Given the description of an element on the screen output the (x, y) to click on. 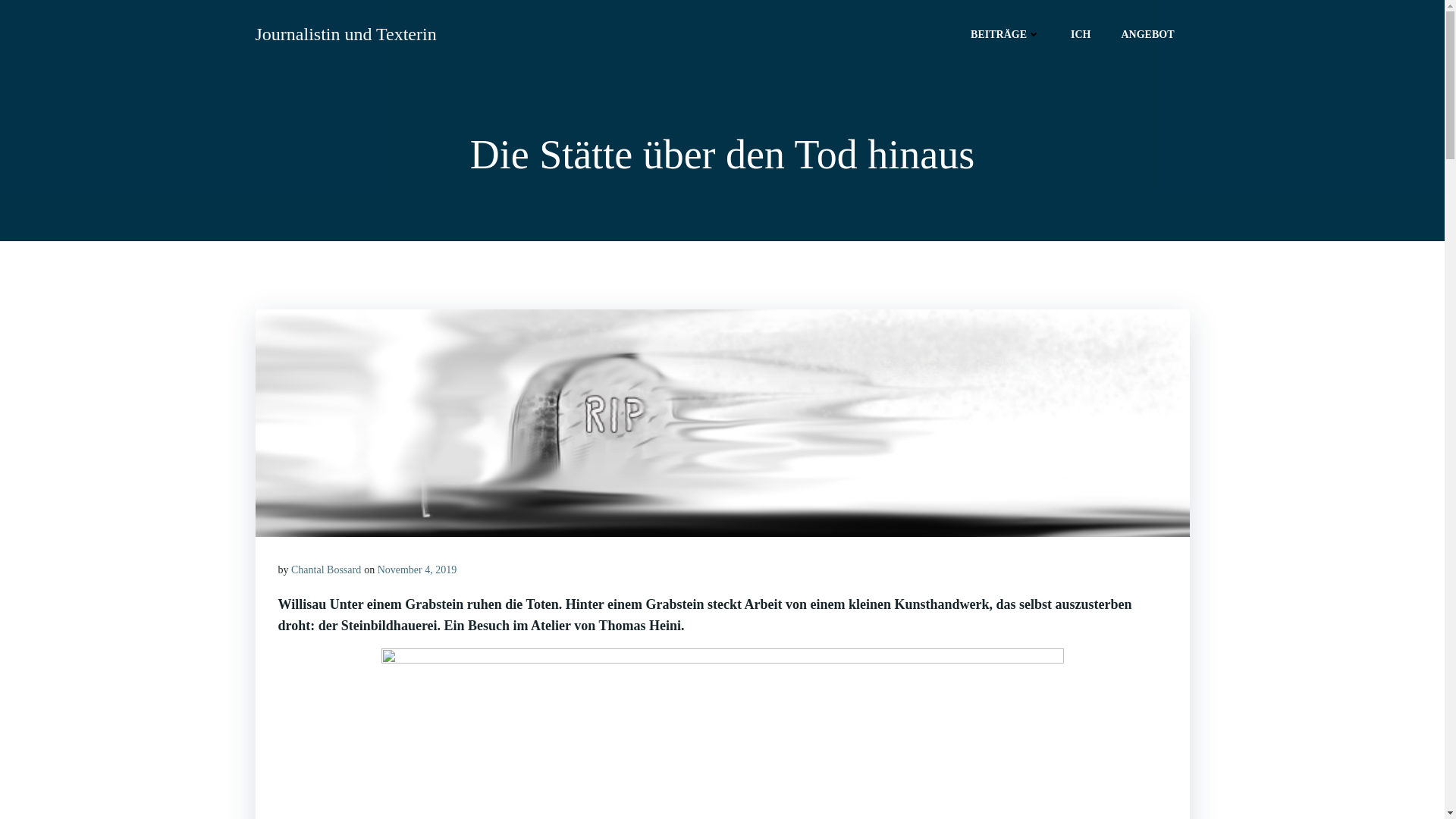
Journalistin und Texterin Element type: text (345, 33)
November 4, 2019 Element type: text (417, 569)
ICH Element type: text (1080, 33)
Chantal Bossard Element type: text (325, 569)
ANGEBOT Element type: text (1146, 33)
